Given the description of an element on the screen output the (x, y) to click on. 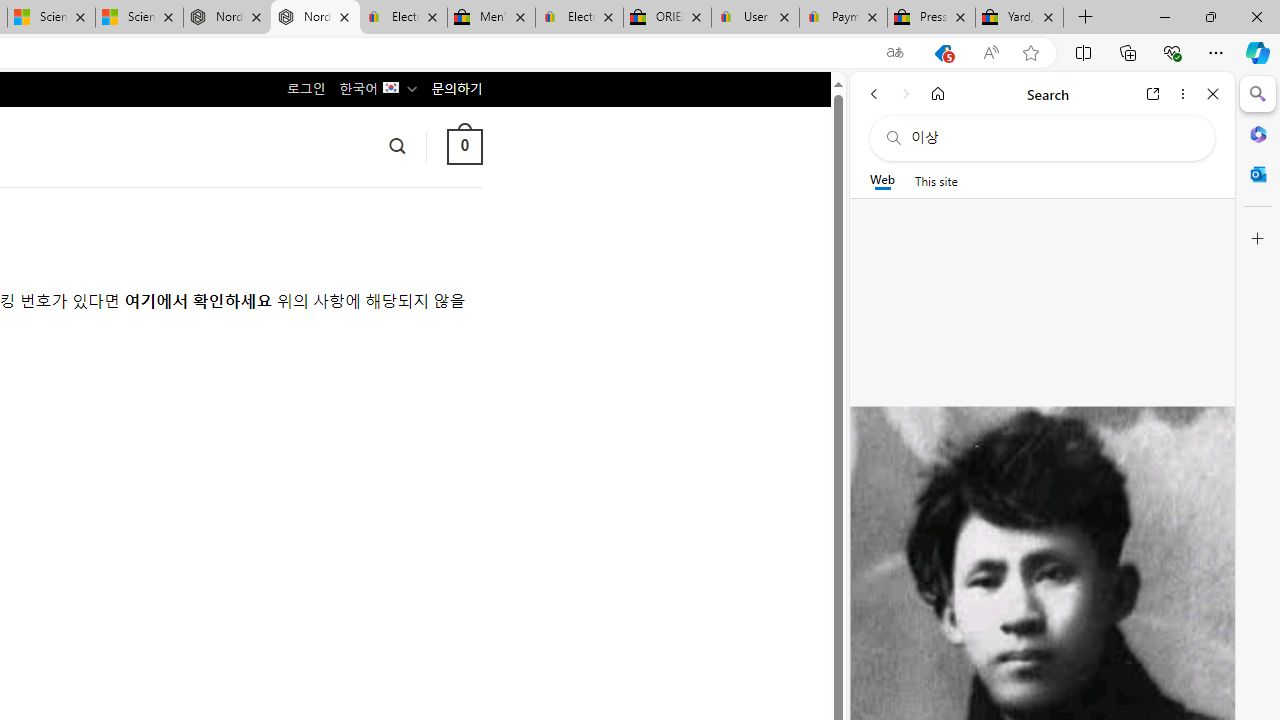
Web scope (882, 180)
Search the web (1051, 137)
User Privacy Notice | eBay (754, 17)
Press Room - eBay Inc. (931, 17)
